Given the description of an element on the screen output the (x, y) to click on. 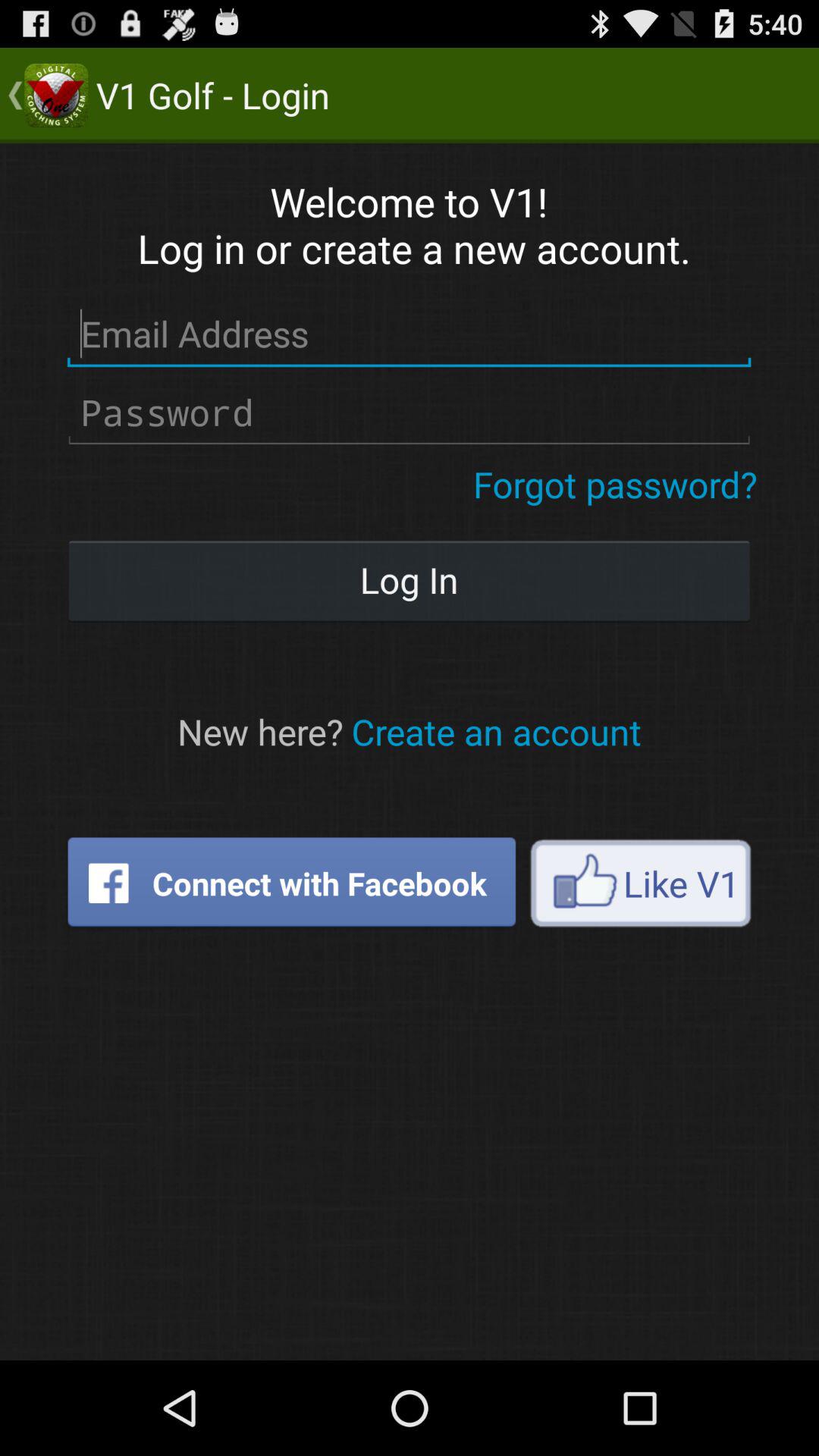
enter password (408, 412)
